Given the description of an element on the screen output the (x, y) to click on. 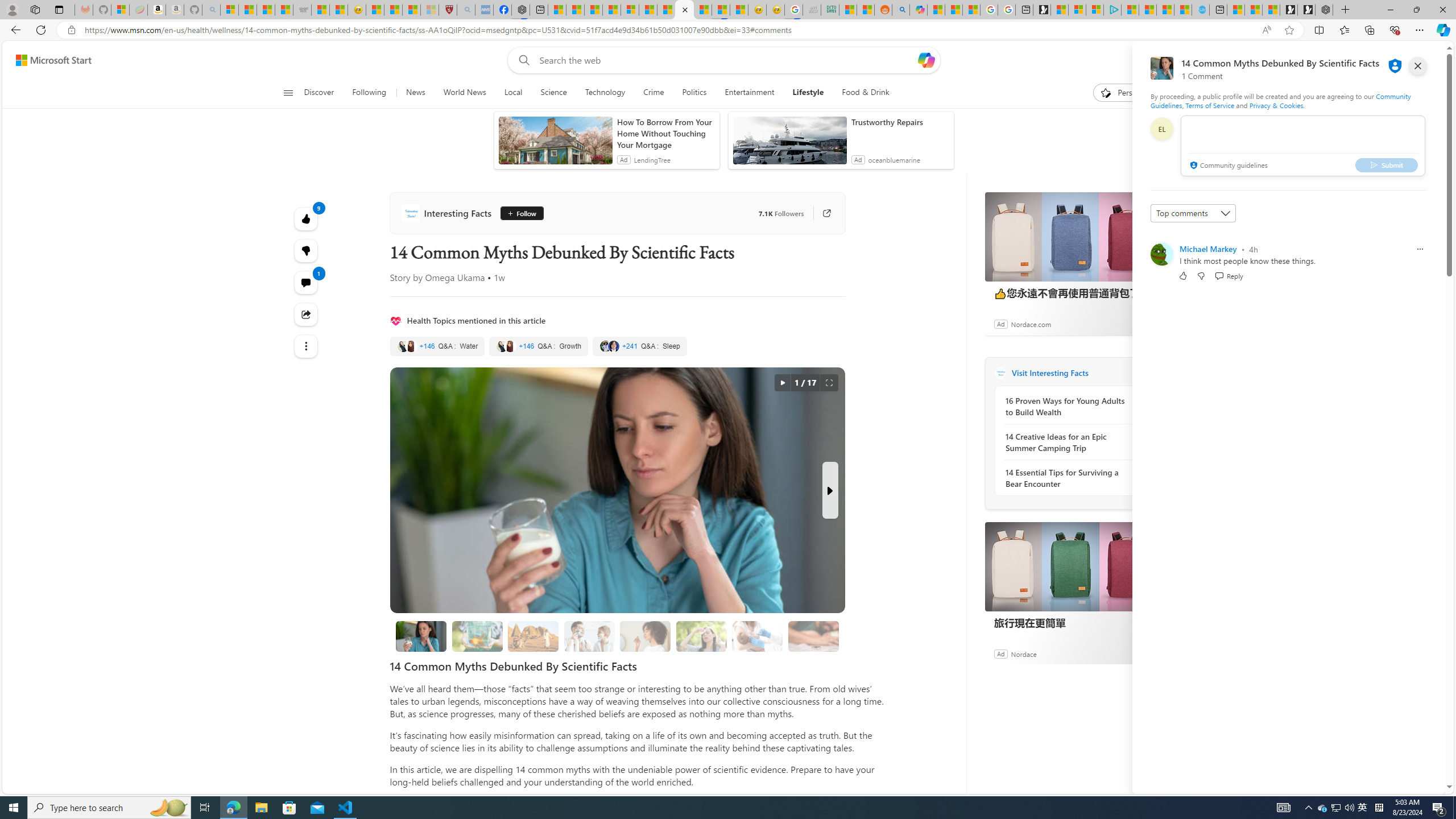
9 (305, 250)
oceanbluemarine (893, 159)
14 Common Myths Debunked By Scientific Facts (684, 9)
1. Dry Mouth (644, 636)
Class: at-item (305, 345)
Terms of Service (1209, 104)
1. Disposable Razors (589, 636)
Utah sues federal government - Search (900, 9)
Submit (1386, 164)
